Given the description of an element on the screen output the (x, y) to click on. 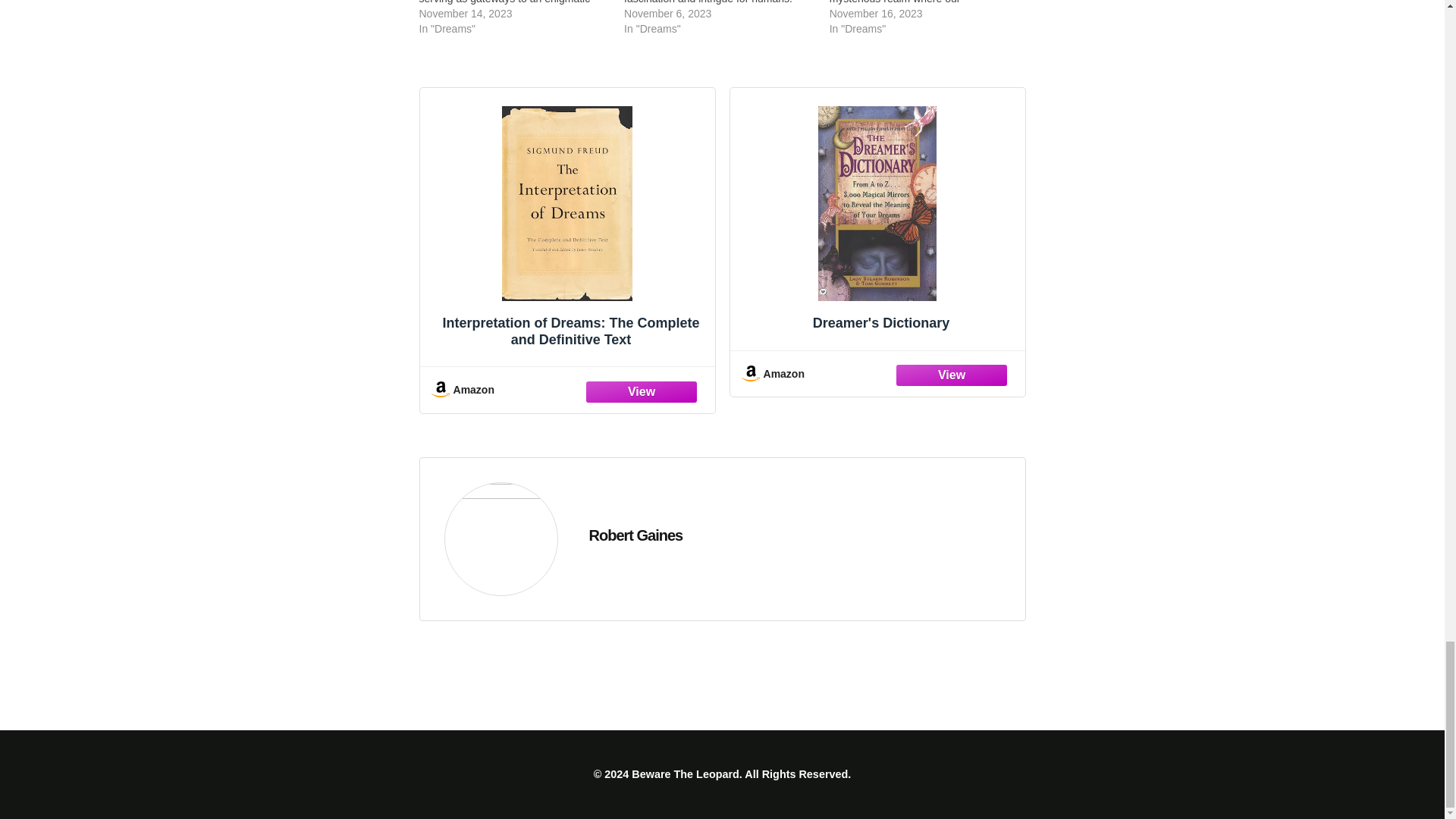
Interpretation of Dreams: The Complete and Definitive Text (567, 230)
Dreamer's Dictionary (876, 221)
Amazon (877, 373)
Amazon (566, 389)
